Given the description of an element on the screen output the (x, y) to click on. 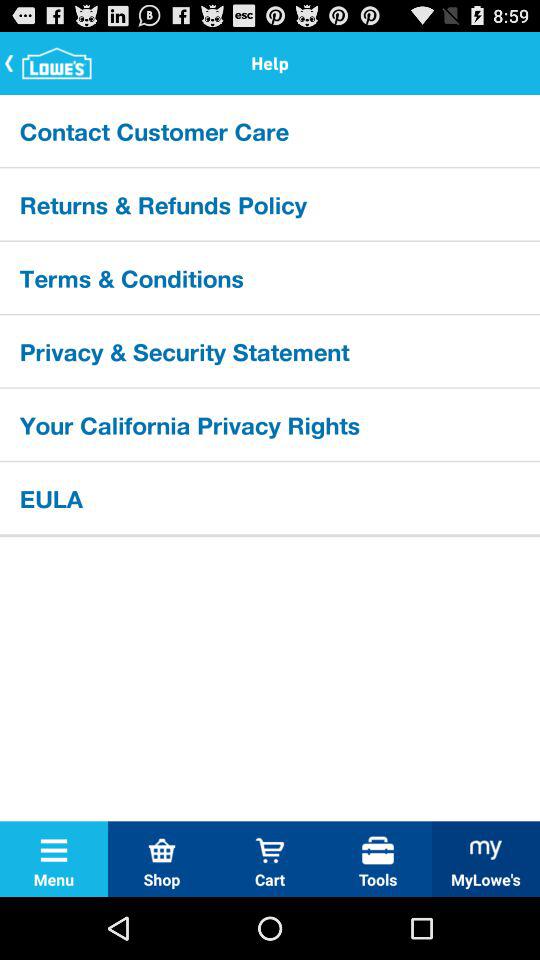
swipe until the your california privacy (270, 424)
